Given the description of an element on the screen output the (x, y) to click on. 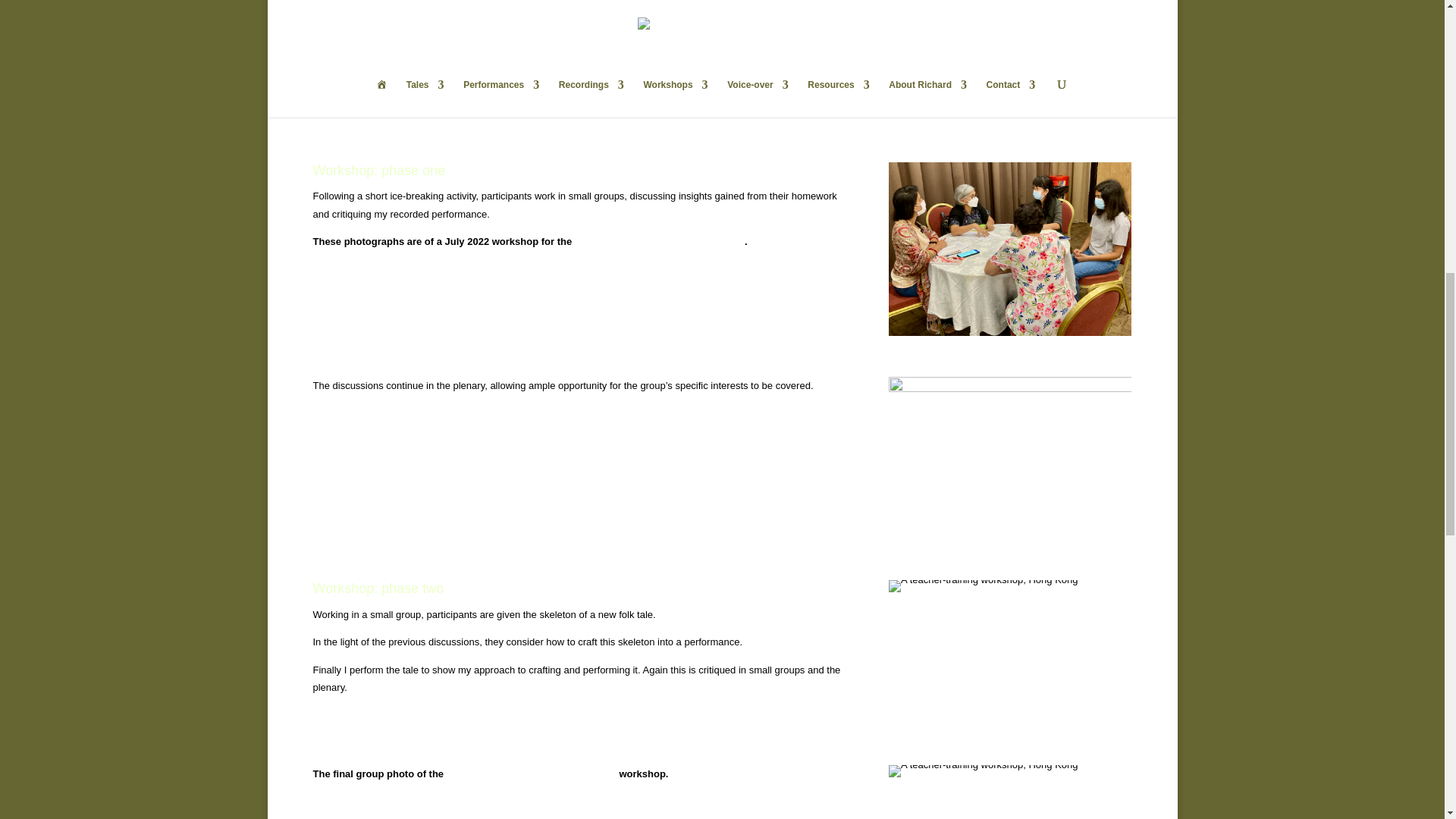
SAS workshop 2 (1009, 248)
SAS workshop 3 (1009, 457)
SAS workshop 1 (982, 585)
SAS workshop 4 (982, 770)
